Given the description of an element on the screen output the (x, y) to click on. 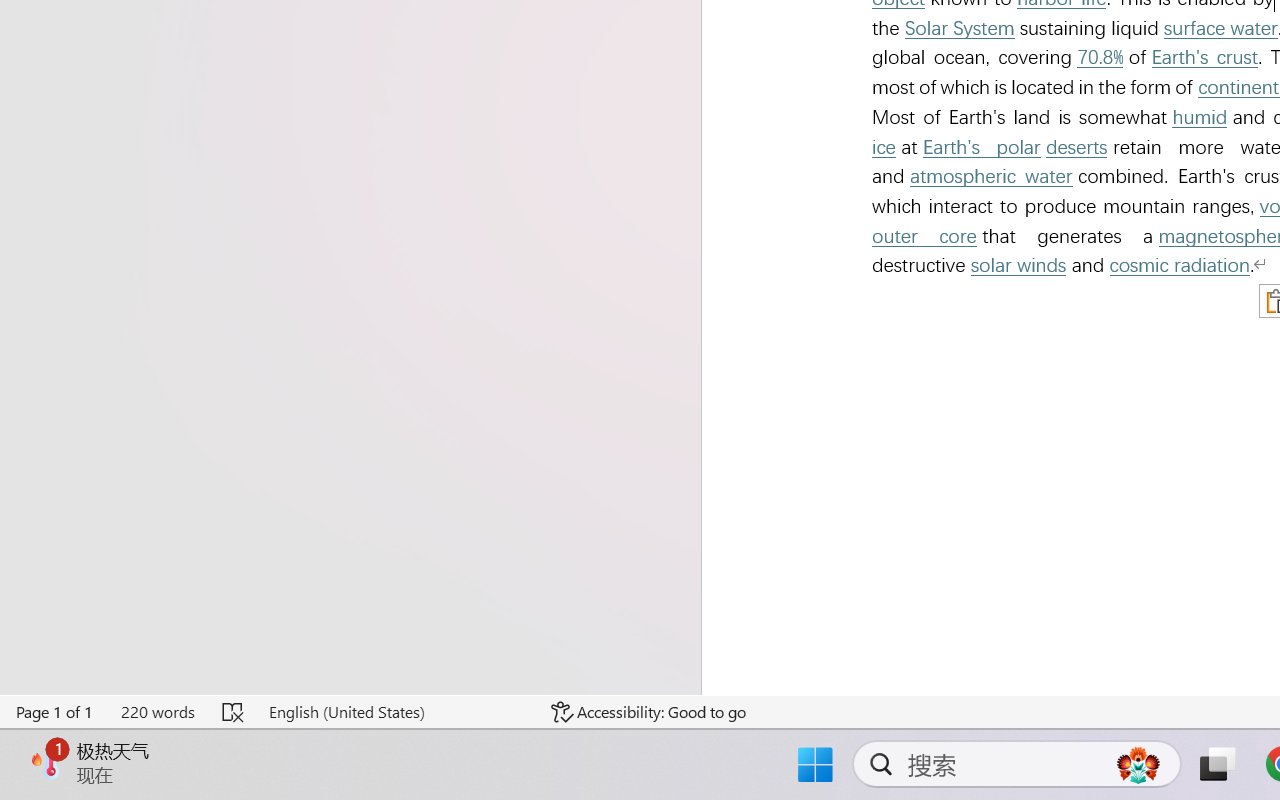
solar winds (1018, 265)
Spelling and Grammar Check Errors (234, 712)
